Given the description of an element on the screen output the (x, y) to click on. 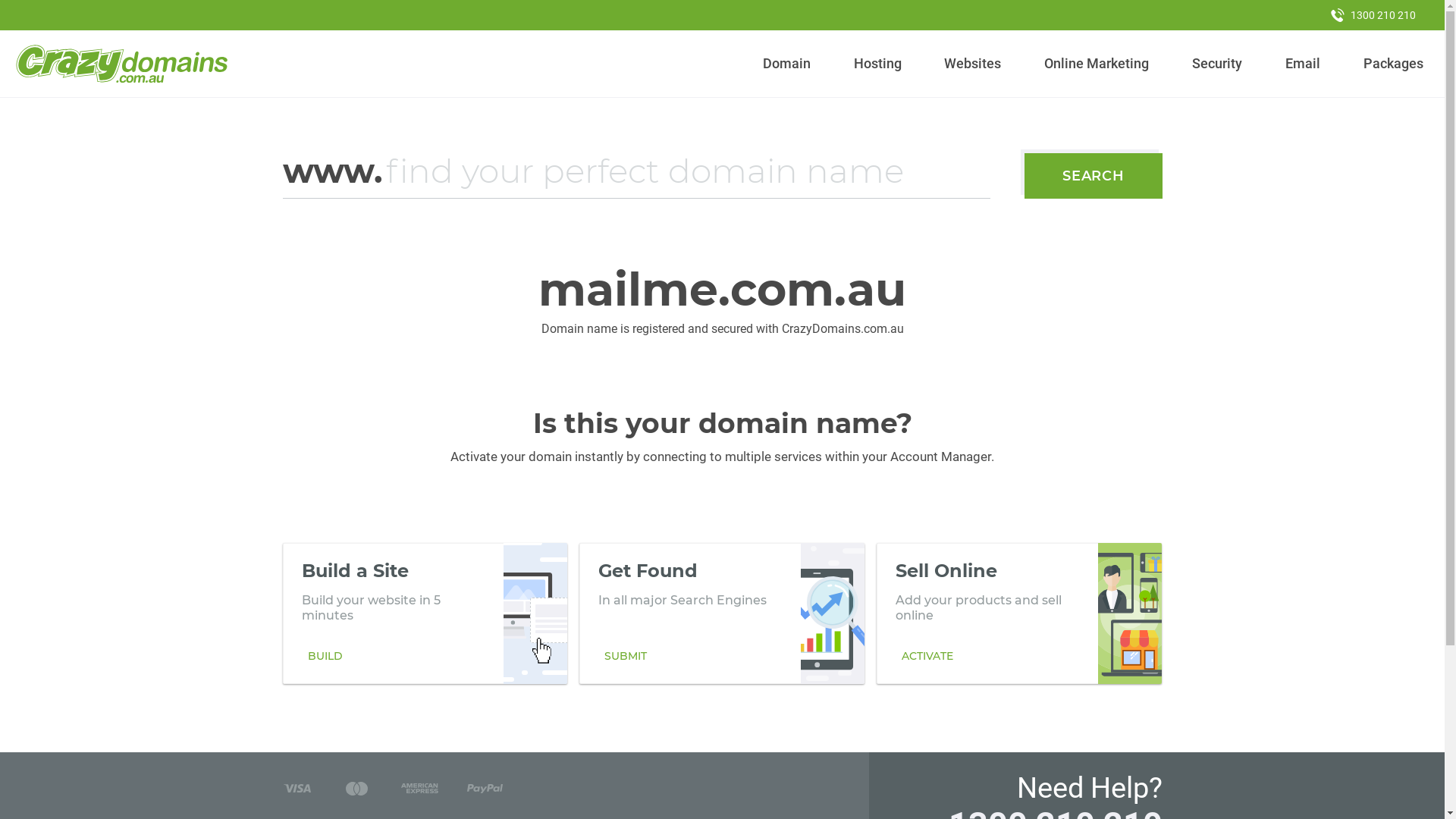
Online Marketing Element type: text (1096, 63)
SEARCH Element type: text (1092, 175)
Domain Element type: text (786, 63)
Get Found
In all major Search Engines
SUBMIT Element type: text (721, 613)
Sell Online
Add your products and sell online
ACTIVATE Element type: text (1018, 613)
Email Element type: text (1302, 63)
1300 210 210 Element type: text (1373, 15)
Websites Element type: text (972, 63)
Packages Element type: text (1392, 63)
Security Element type: text (1217, 63)
Build a Site
Build your website in 5 minutes
BUILD Element type: text (424, 613)
Hosting Element type: text (877, 63)
